Given the description of an element on the screen output the (x, y) to click on. 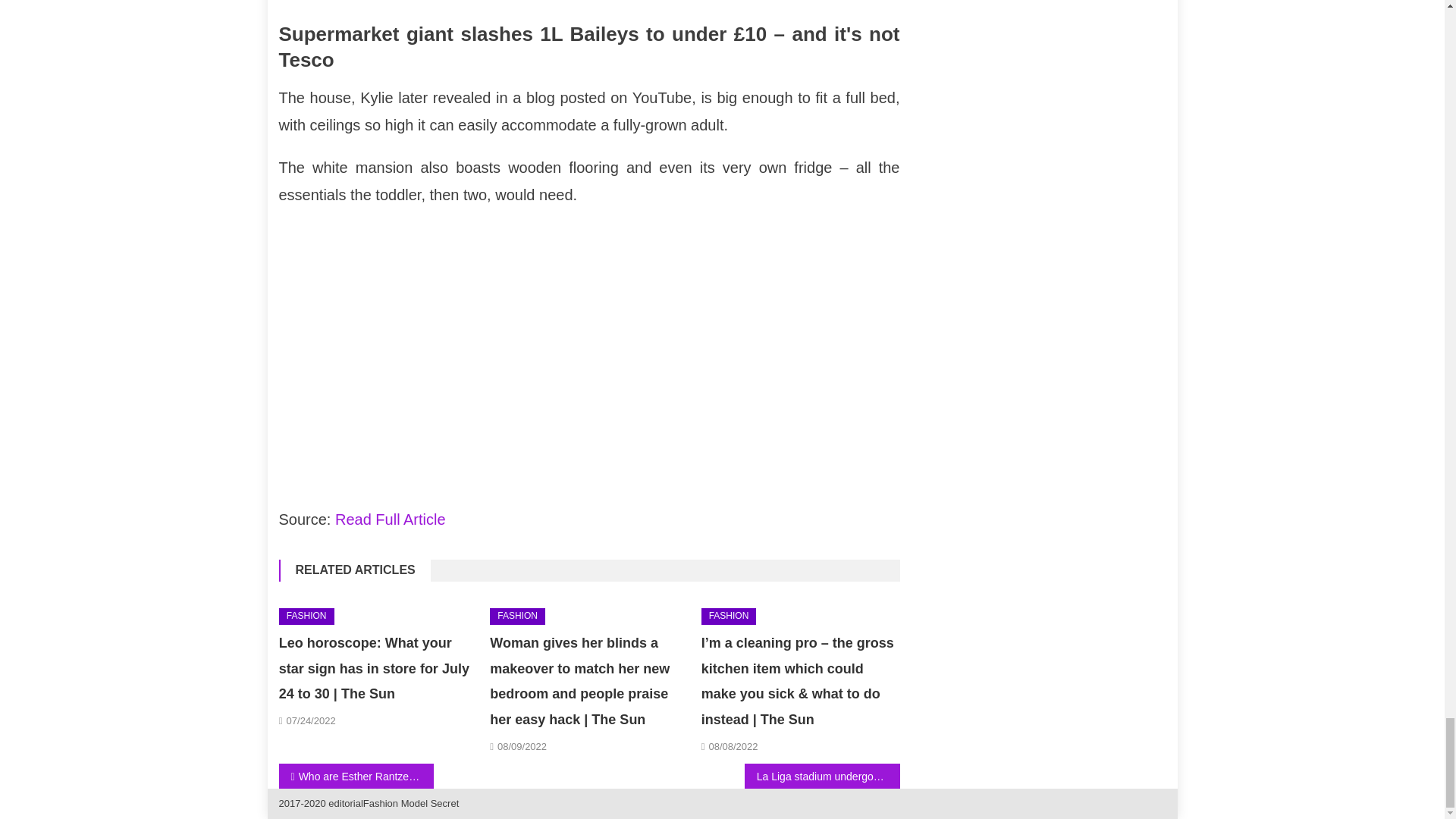
FASHION (306, 616)
Read Full Article (389, 519)
FASHION (516, 616)
FASHION (729, 616)
